Given the description of an element on the screen output the (x, y) to click on. 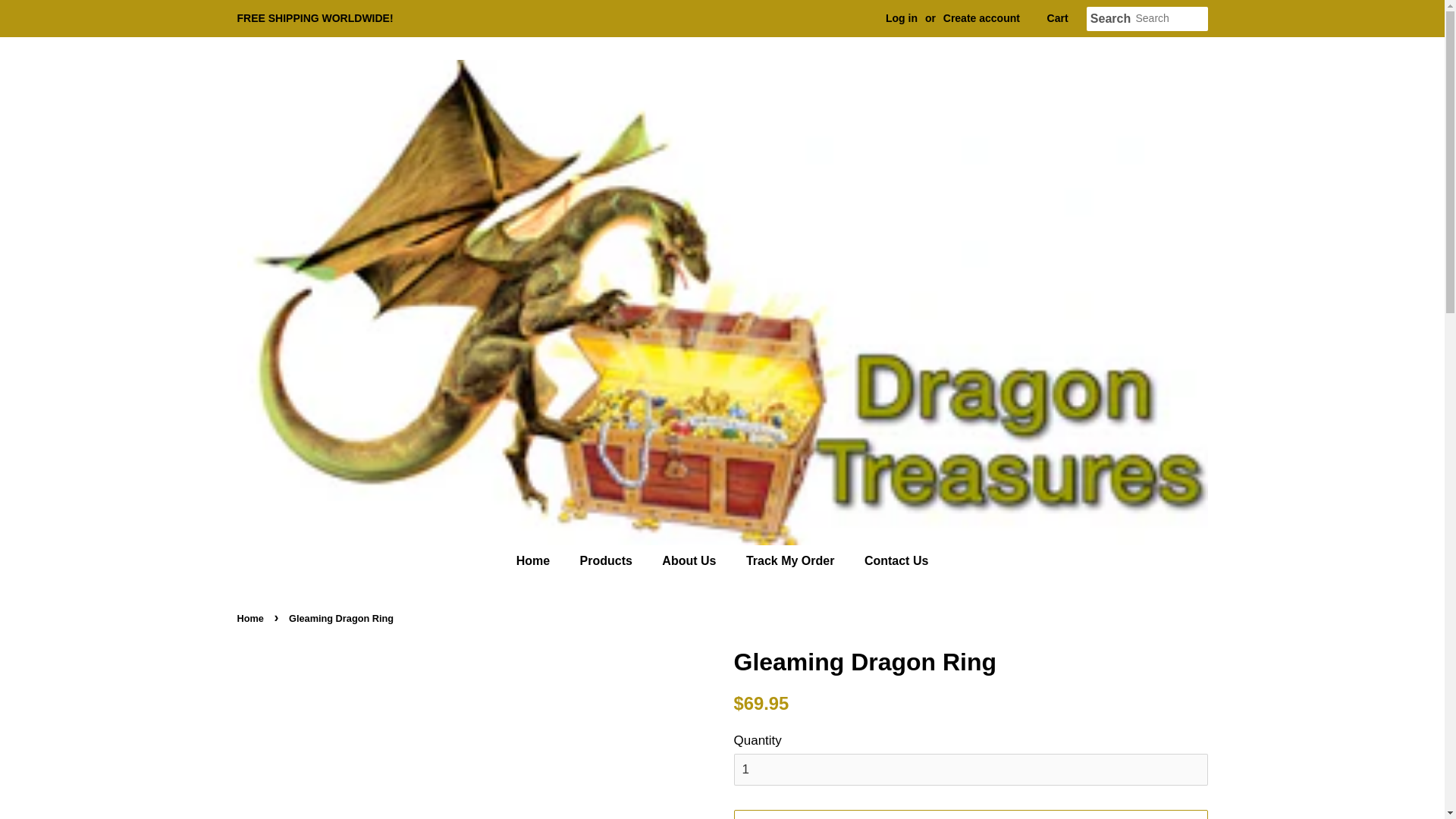
Search (1110, 18)
Log in (901, 18)
Back to the frontpage (250, 618)
Create account (981, 18)
Products (608, 560)
Cart (1057, 18)
Home (540, 560)
1 (970, 769)
